Given the description of an element on the screen output the (x, y) to click on. 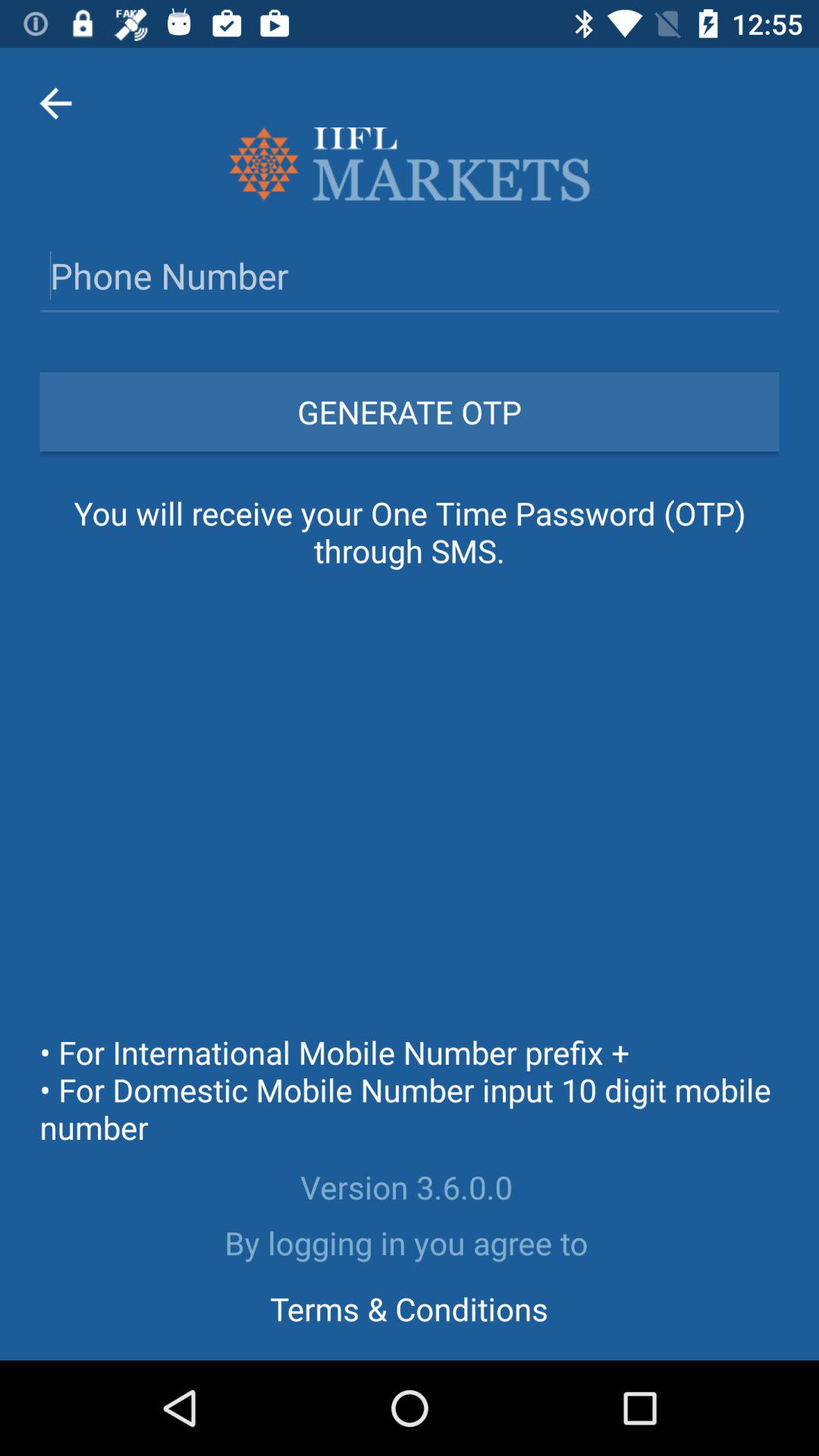
press the item below version 3 6 item (409, 1242)
